Given the description of an element on the screen output the (x, y) to click on. 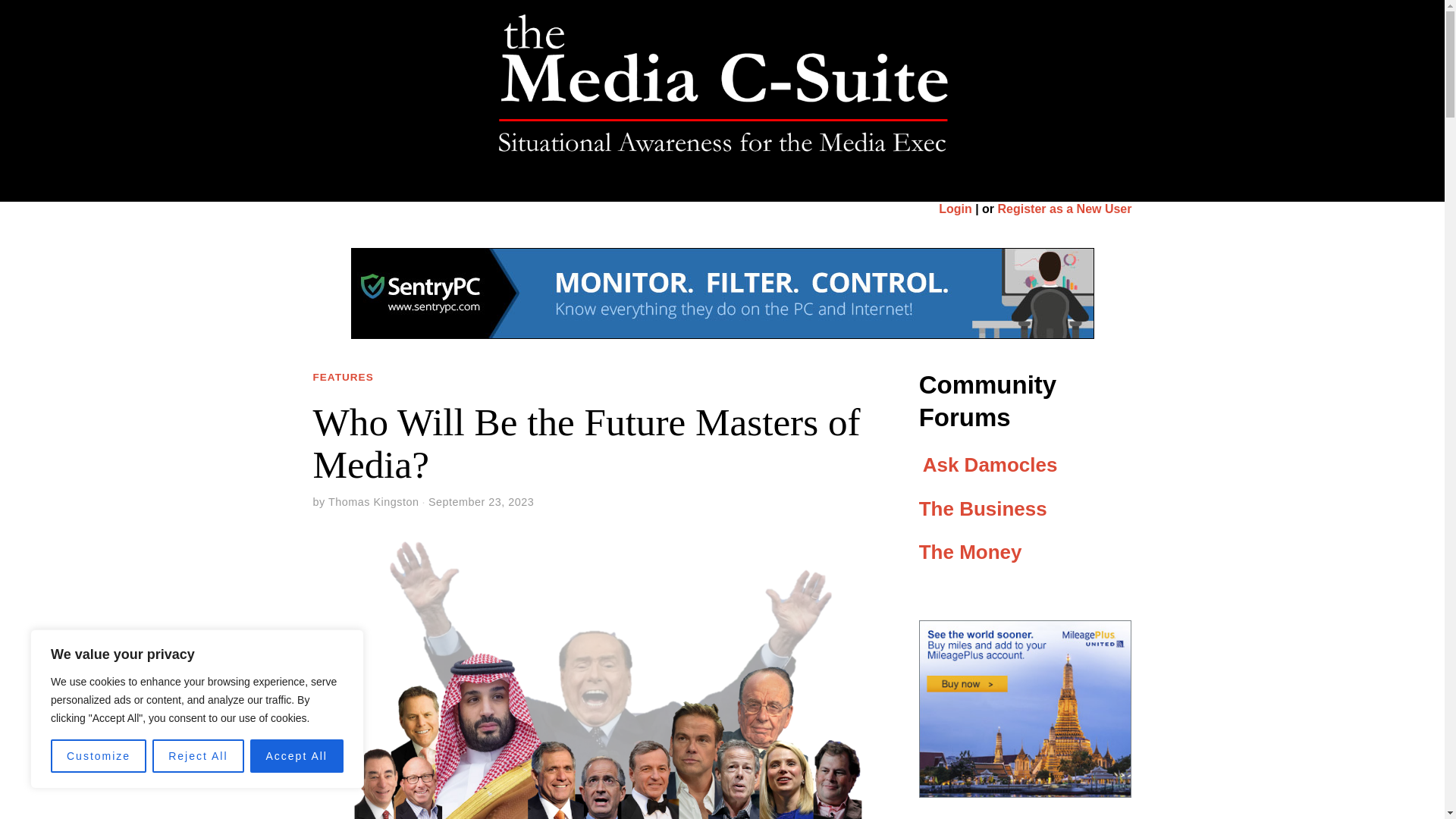
Twitter (1111, 85)
Customize (98, 756)
Accept All (296, 756)
Login (955, 208)
Register as a New User (1064, 208)
LinkedIn (1125, 85)
FEATURES (342, 377)
Thomas Kingston (374, 501)
INSIGHTS (666, 185)
FEATURES (585, 185)
ABOUT US (860, 185)
Facebook (1096, 85)
Reject All (197, 756)
NEWSLETTERS (762, 185)
